Given the description of an element on the screen output the (x, y) to click on. 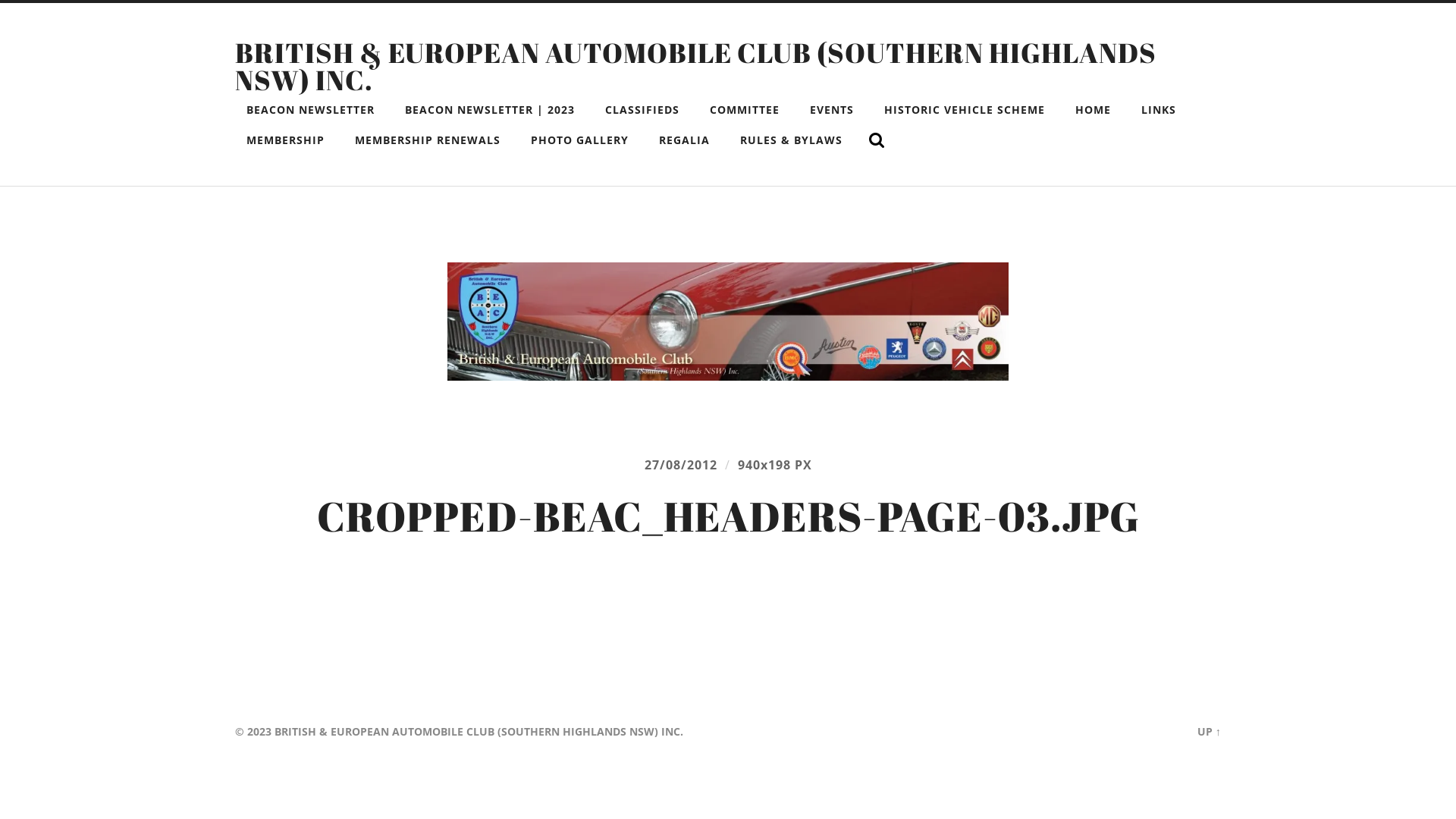
HISTORIC VEHICLE SCHEME Element type: text (964, 109)
RULES & BYLAWS Element type: text (790, 140)
MEMBERSHIP RENEWALS Element type: text (427, 140)
PHOTO GALLERY Element type: text (579, 140)
BEACON NEWSLETTER Element type: text (310, 109)
EVENTS Element type: text (831, 109)
BEACON NEWSLETTER | 2023 Element type: text (489, 109)
Show the search field Element type: hover (876, 140)
HOME Element type: text (1092, 109)
REGALIA Element type: text (684, 140)
LINKS Element type: text (1158, 109)
MEMBERSHIP Element type: text (285, 140)
COMMITTEE Element type: text (744, 109)
CLASSIFIEDS Element type: text (641, 109)
